Given the description of an element on the screen output the (x, y) to click on. 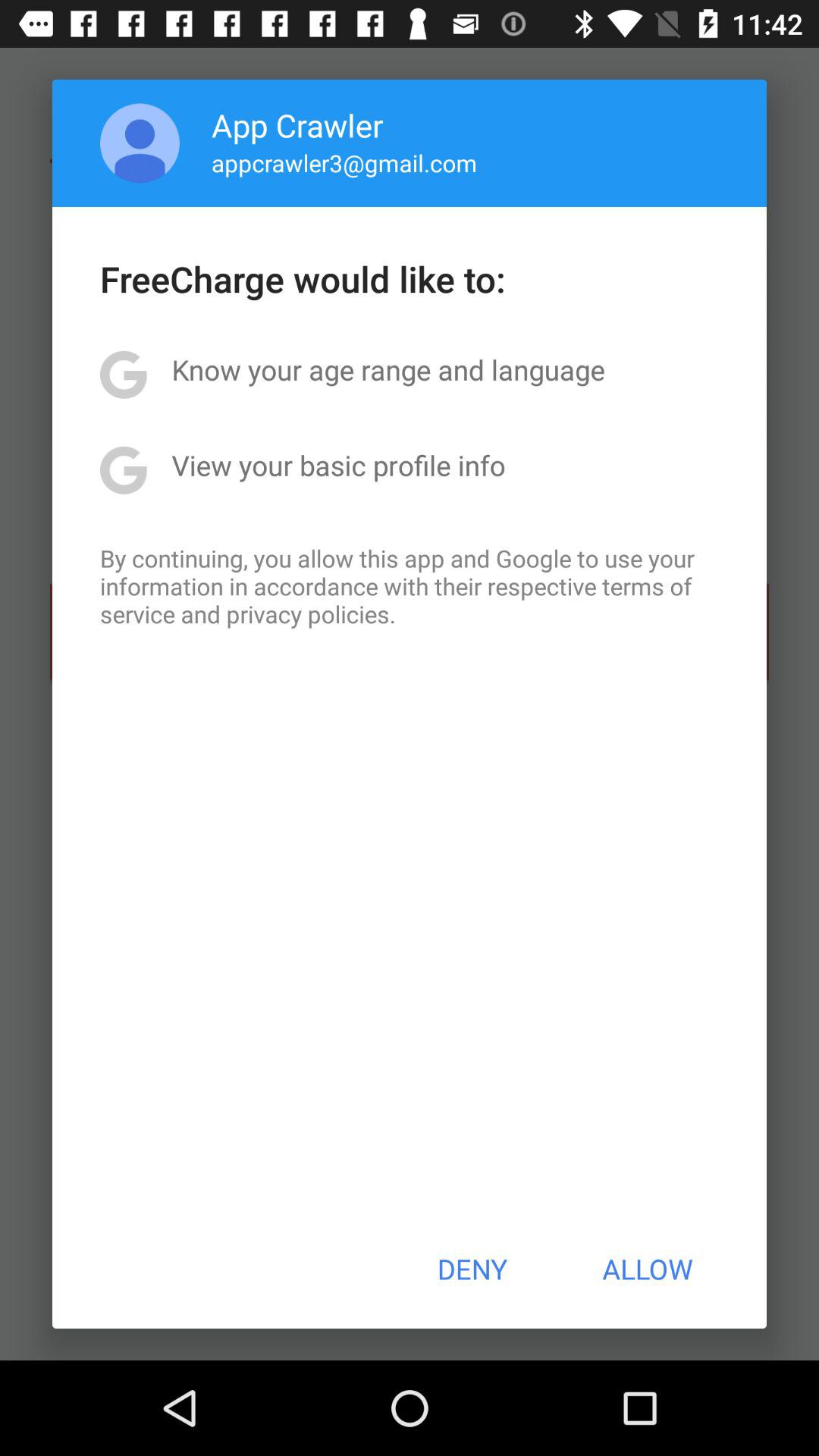
turn off view your basic (338, 465)
